Given the description of an element on the screen output the (x, y) to click on. 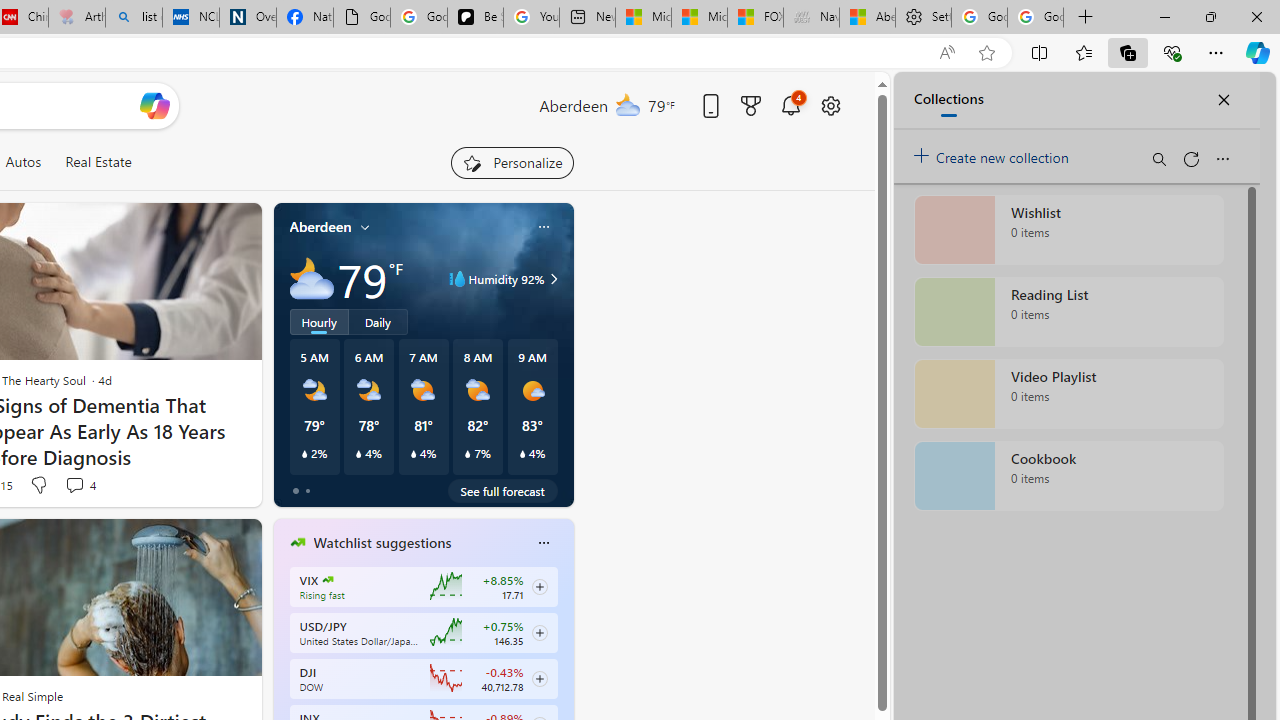
Watchlist suggestions (382, 543)
Mostly cloudy (311, 278)
Humidity 92% (551, 278)
Class: weather-current-precipitation-glyph (522, 453)
Personalize your feed" (511, 162)
